Given the description of an element on the screen output the (x, y) to click on. 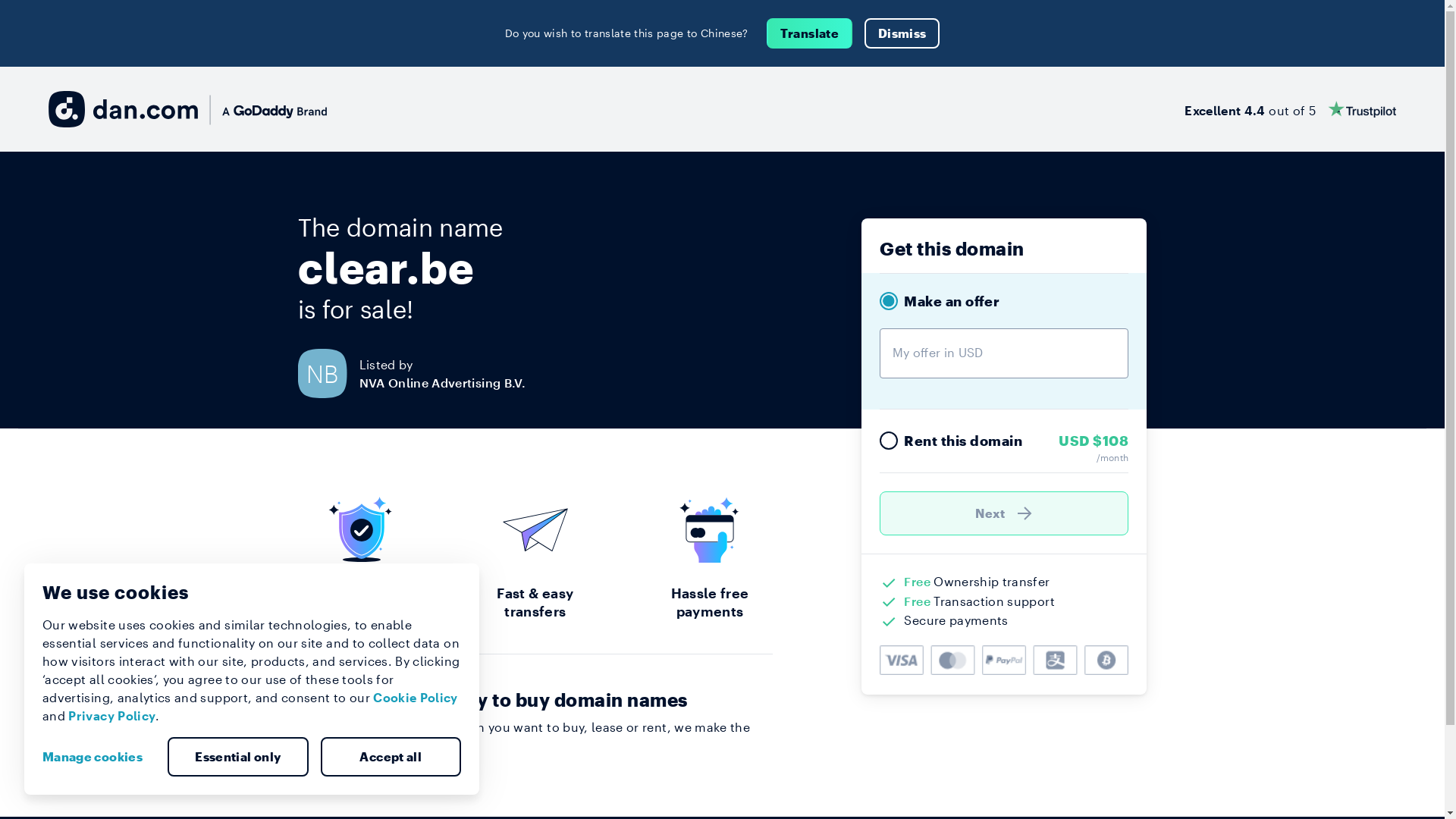
Manage cookies Element type: text (98, 756)
Translate Element type: text (809, 33)
Dismiss Element type: text (901, 33)
Accept all Element type: text (390, 756)
Cookie Policy Element type: text (415, 697)
Next
) Element type: text (1003, 513)
Privacy Policy Element type: text (111, 715)
Excellent 4.4 out of 5 Element type: text (1290, 109)
Essential only Element type: text (237, 756)
